Given the description of an element on the screen output the (x, y) to click on. 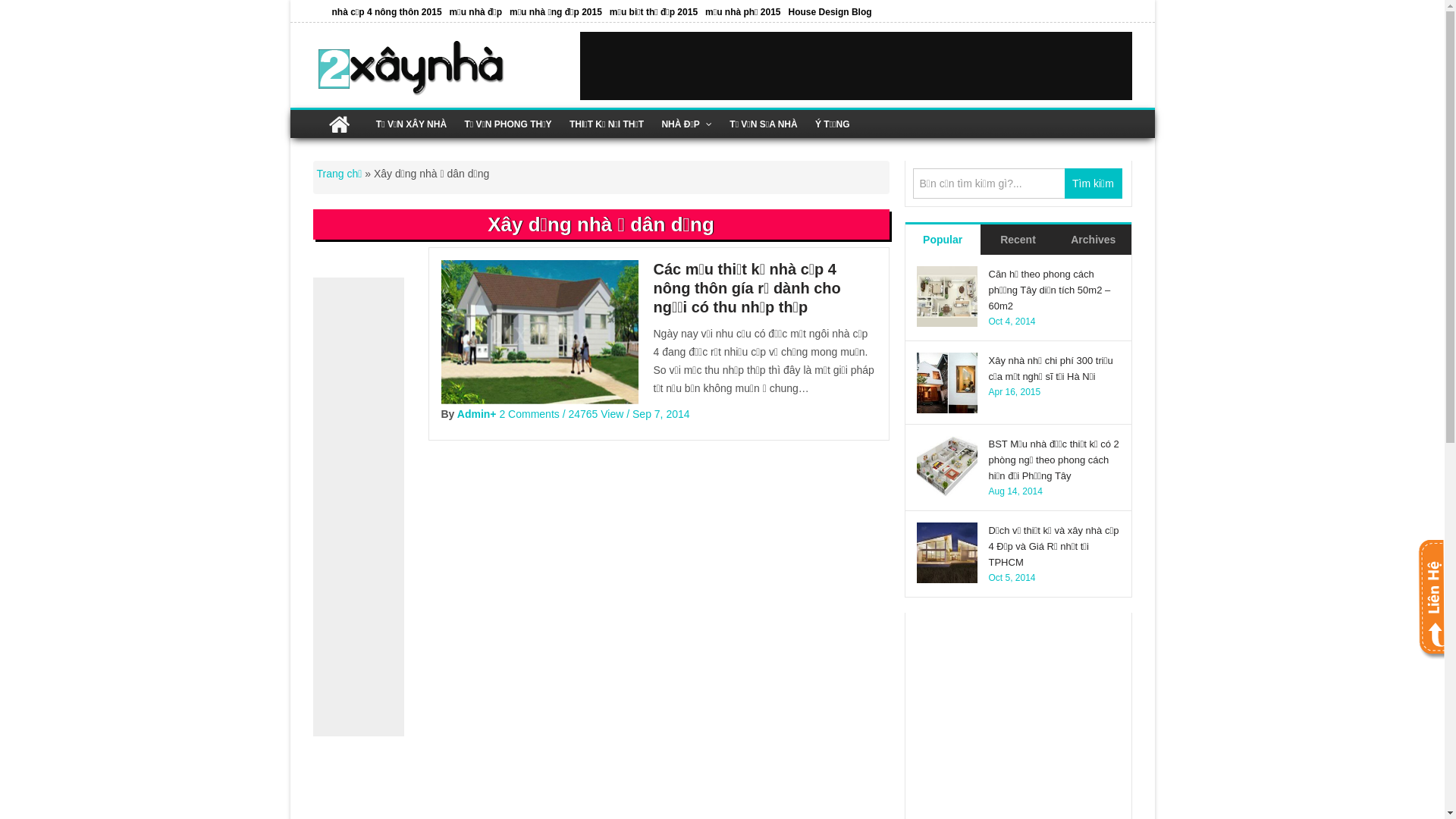
Admin Element type: text (473, 413)
Oct 5, 2014 Element type: text (1011, 577)
Archives Element type: text (1092, 239)
+ Element type: text (492, 413)
House Design Blog Element type: text (830, 11)
Sep 7, 2014 Element type: text (661, 413)
2 Comments Element type: text (528, 413)
Oct 4, 2014 Element type: text (1011, 321)
Recent Element type: text (1017, 239)
Aug 14, 2014 Element type: text (1015, 491)
Apr 16, 2015 Element type: text (1014, 391)
Popular Element type: text (942, 239)
